Given the description of an element on the screen output the (x, y) to click on. 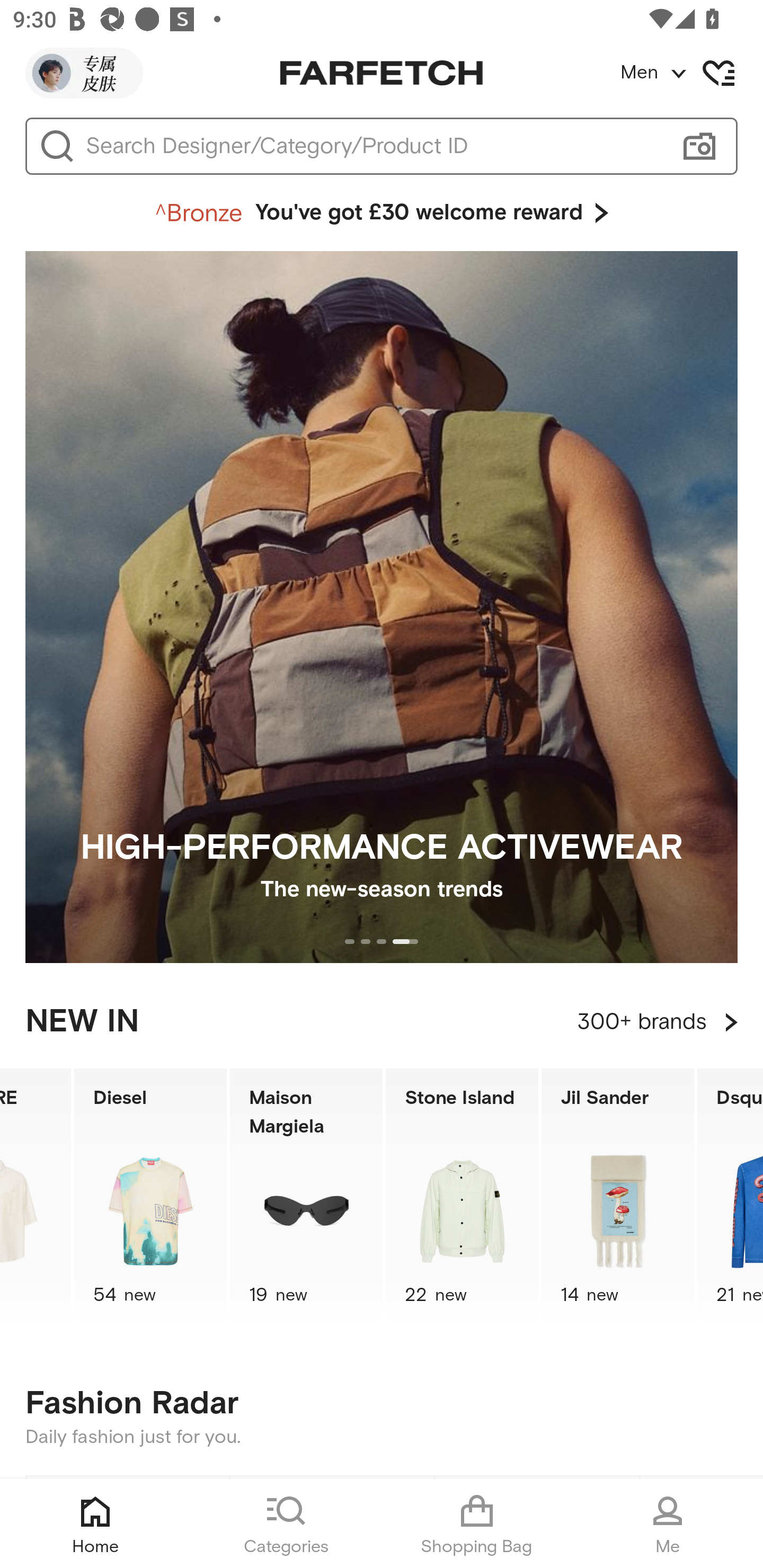
Men (691, 72)
Search Designer/Category/Product ID (373, 146)
You've got £30 welcome reward (381, 213)
NEW IN 300+ brands (381, 1021)
Diesel 54  new (150, 1196)
Maison Margiela 19  new (305, 1196)
Stone Island 22  new (462, 1196)
Jil Sander 14  new (617, 1196)
Categories (285, 1523)
Shopping Bag (476, 1523)
Me (667, 1523)
